Given the description of an element on the screen output the (x, y) to click on. 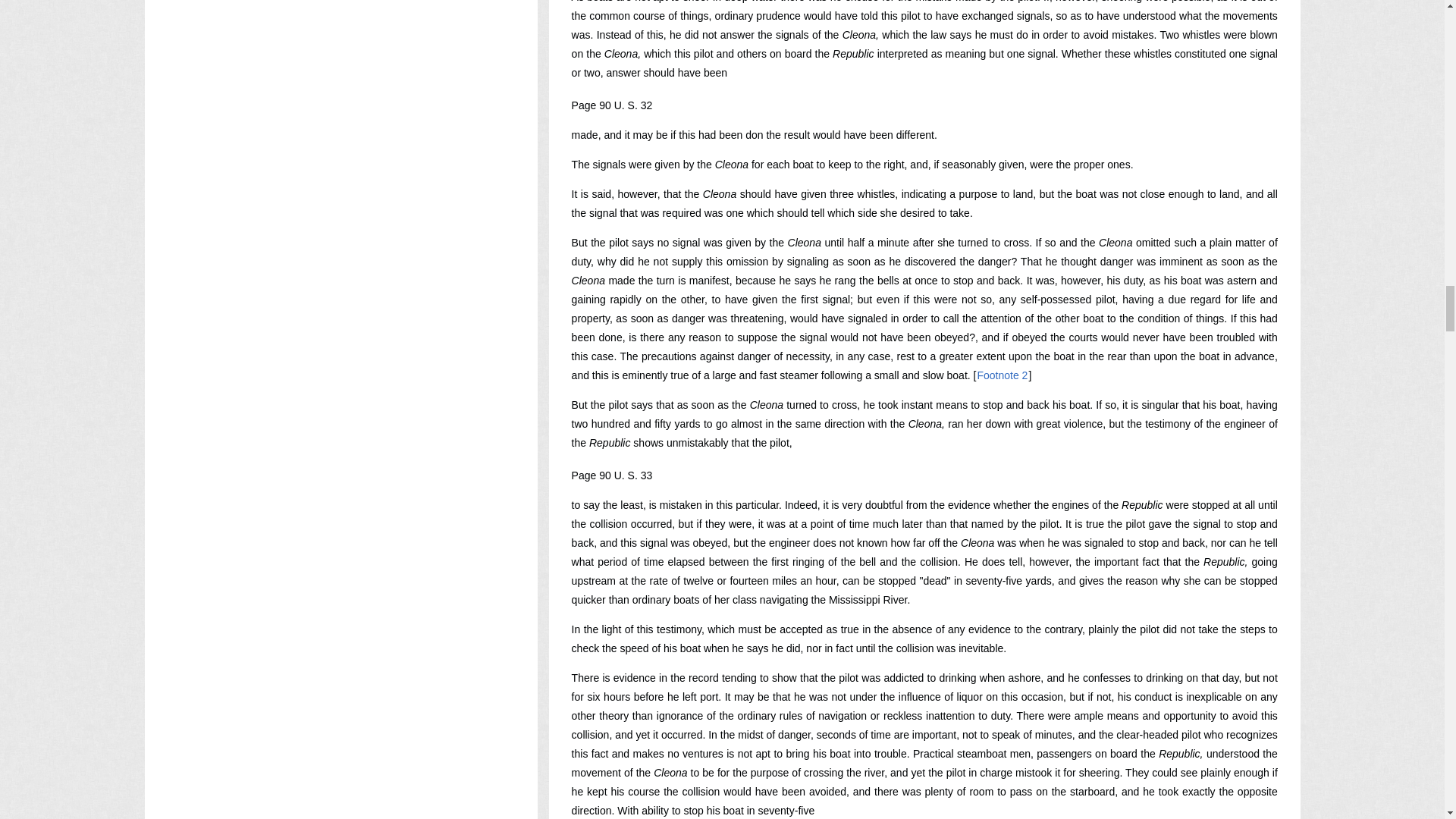
Page 90 U. S. 32 (612, 105)
Footnote 2 (1001, 375)
Page 90 U. S. 33 (612, 475)
